Given the description of an element on the screen output the (x, y) to click on. 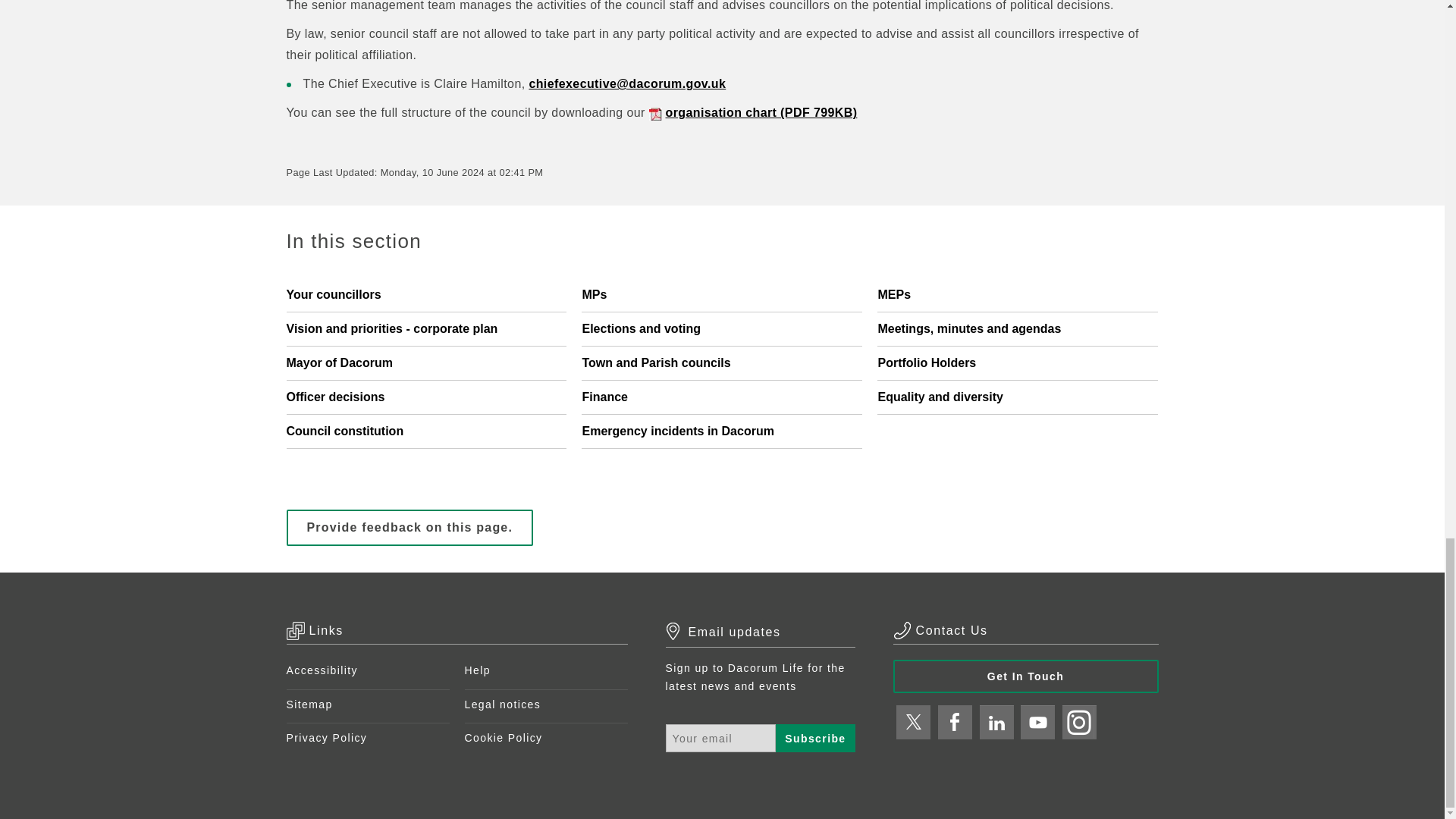
Subscribe (815, 737)
